Given the description of an element on the screen output the (x, y) to click on. 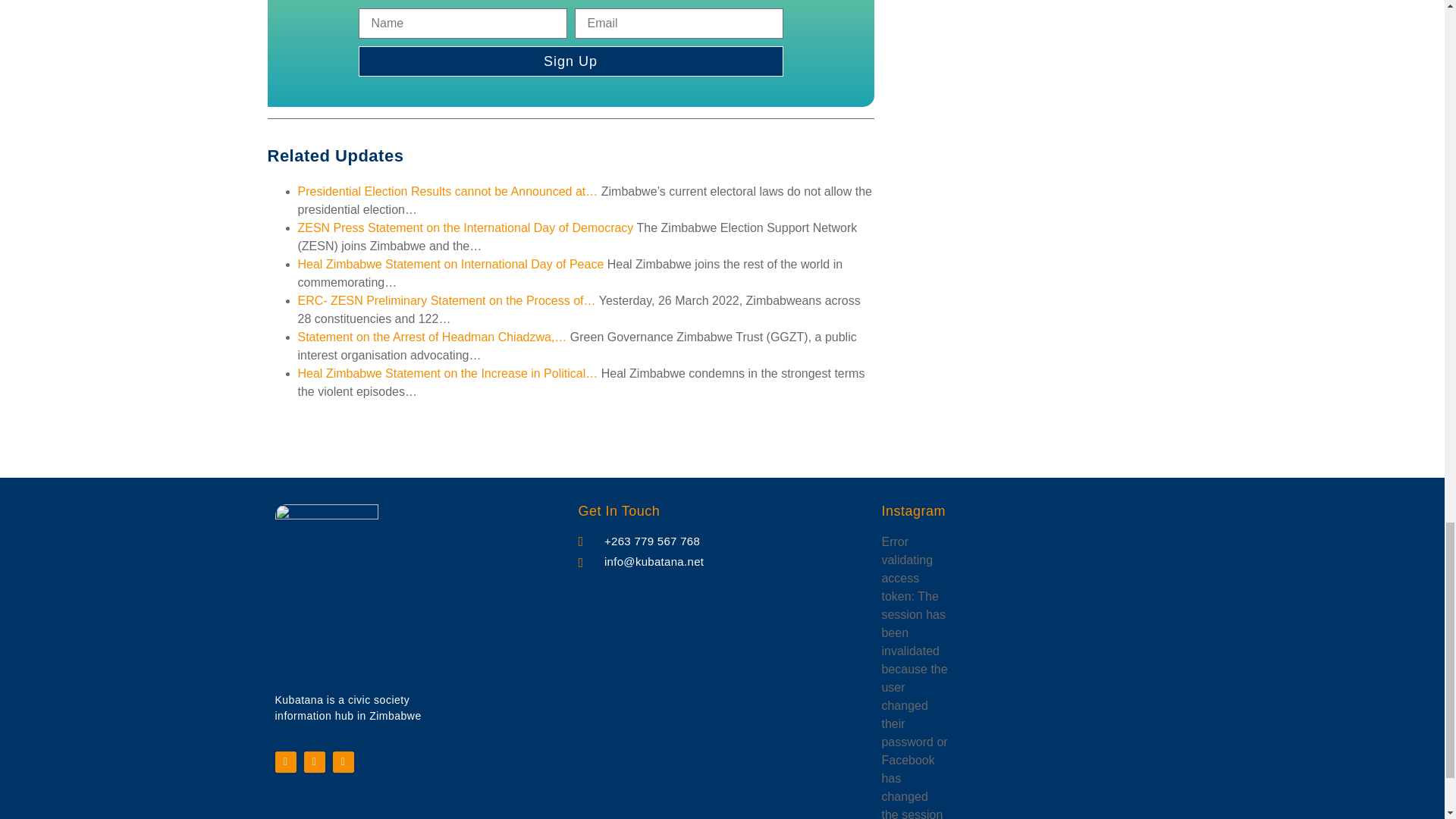
Sign Up (570, 60)
ZESN Press Statement on the International Day of Democracy (465, 227)
Heal Zimbabwe Statement on International Day of Peace (450, 264)
